Given the description of an element on the screen output the (x, y) to click on. 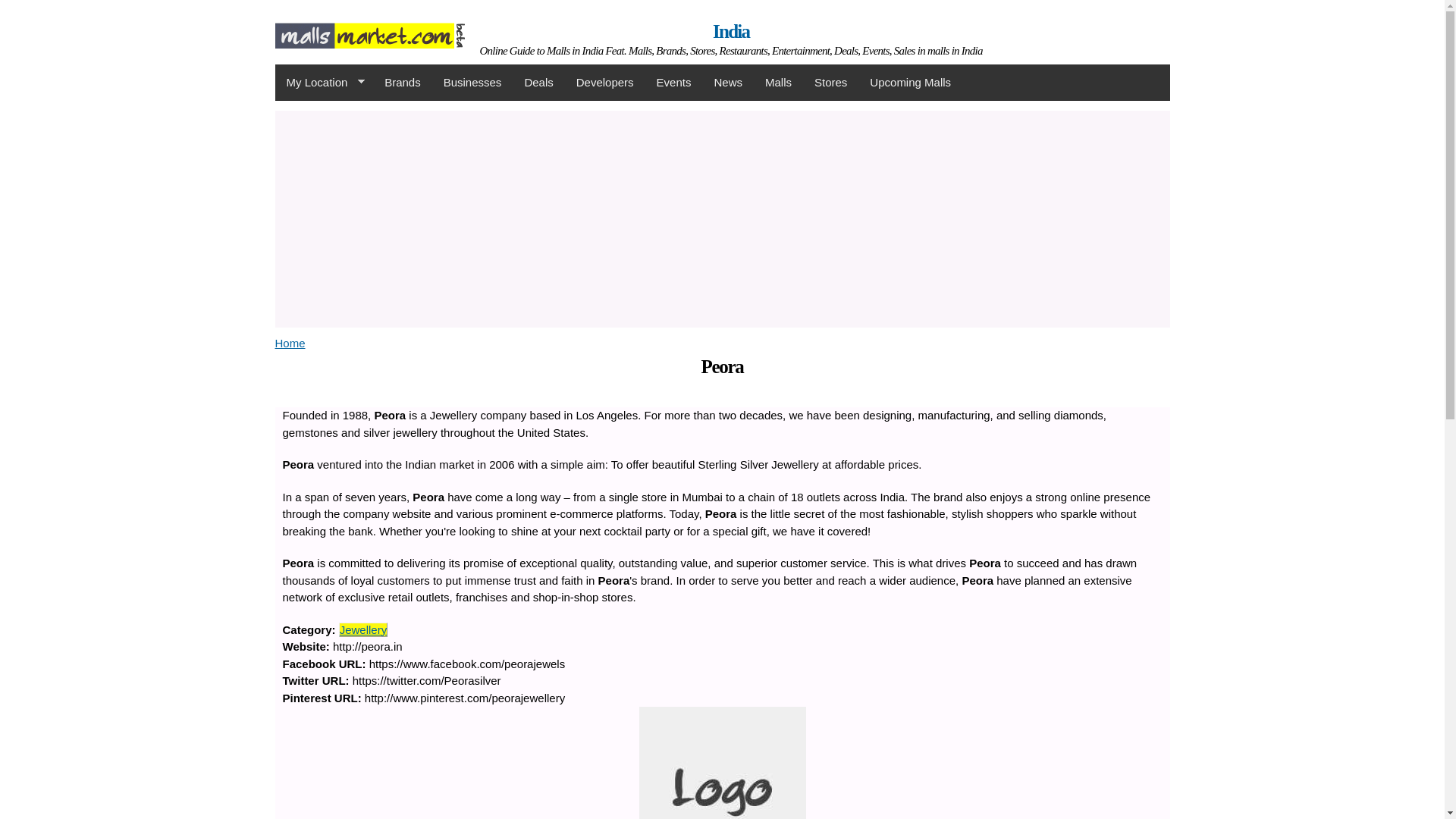
India (731, 31)
Deals (538, 82)
Jewellery (363, 629)
News (727, 82)
Businesses (472, 82)
Home (289, 342)
Stores (831, 82)
Skip to main content (688, 1)
Malls (778, 82)
Home (731, 31)
